Given the description of an element on the screen output the (x, y) to click on. 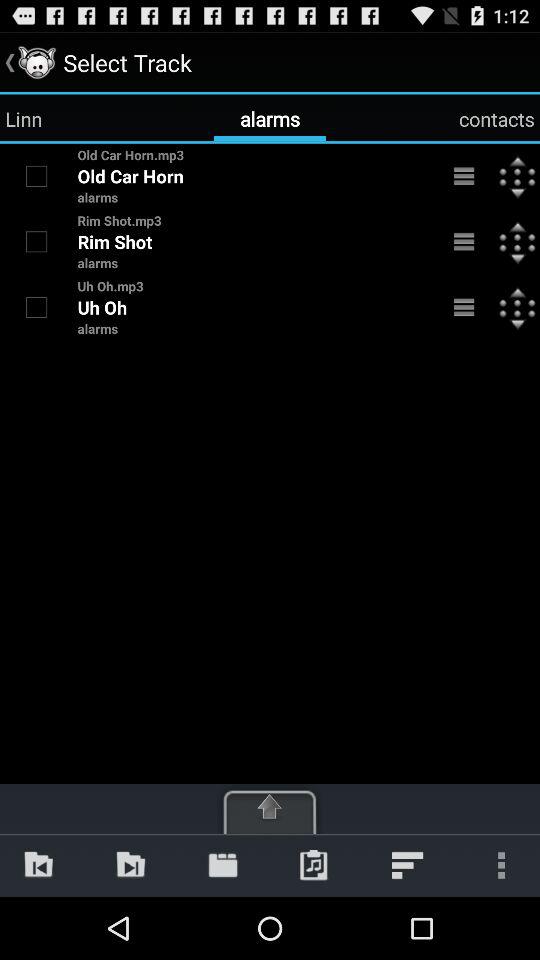
toggle uh oh selection (36, 307)
